Given the description of an element on the screen output the (x, y) to click on. 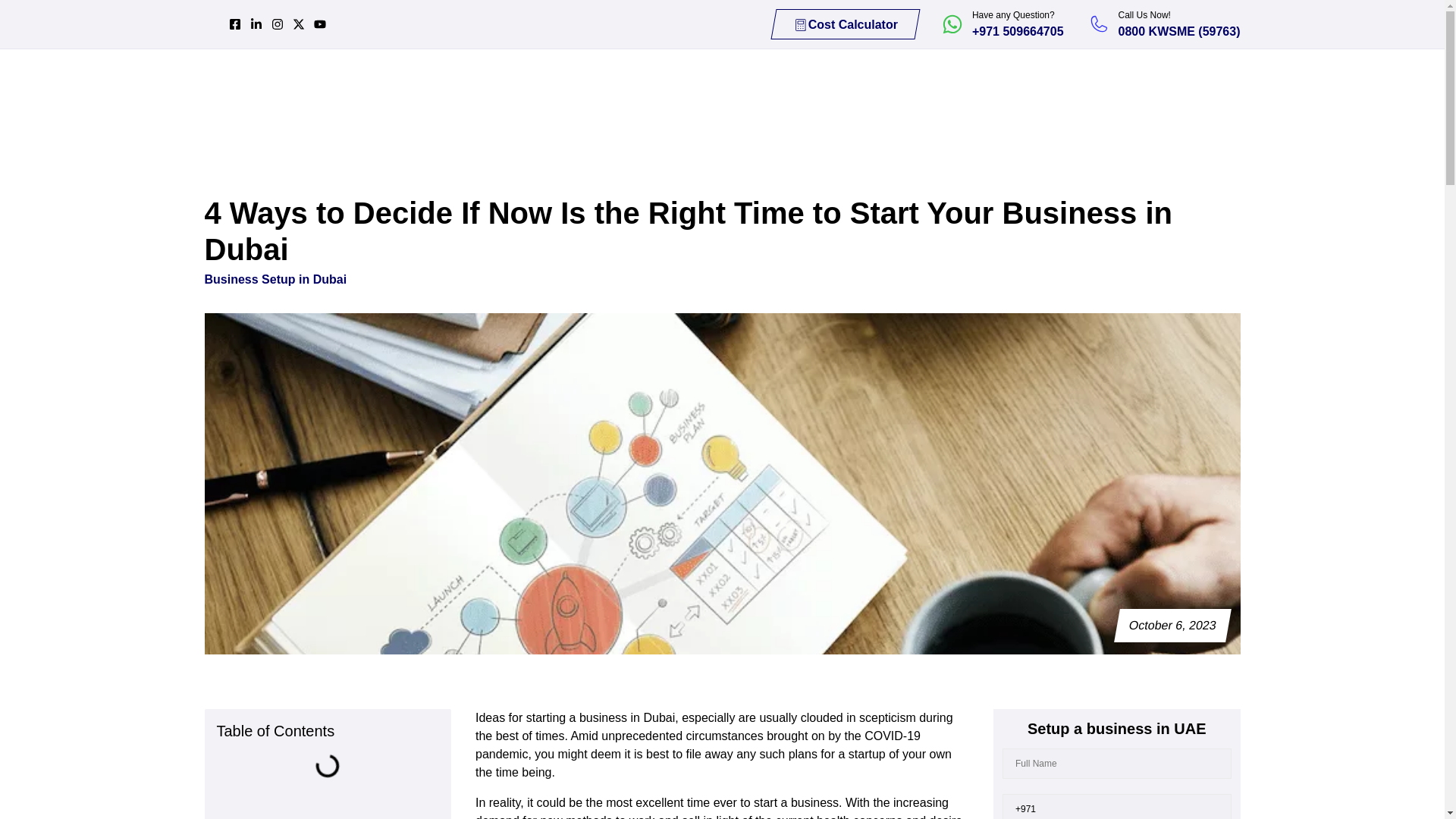
Cost Calculator (842, 24)
